Given the description of an element on the screen output the (x, y) to click on. 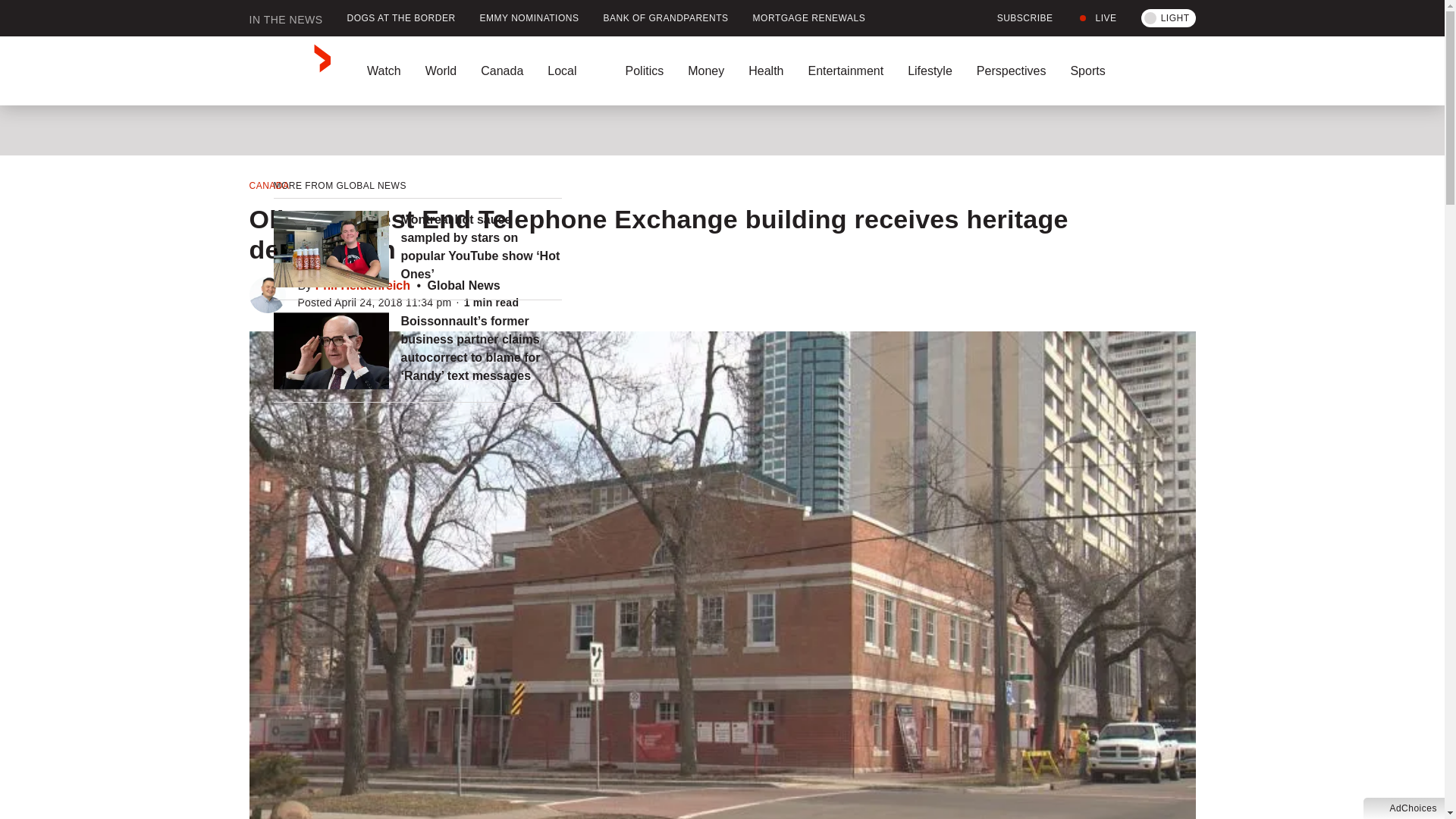
Perspectives (1010, 70)
Watch (384, 70)
DOGS AT THE BORDER (400, 18)
LIVE (1096, 18)
Politics (643, 70)
Lifestyle (929, 70)
Posts by Phil Heidenreich (362, 285)
GlobalNews home (289, 70)
Health (765, 70)
World (440, 70)
Search Menu (1191, 70)
SUBSCRIBE (1015, 18)
MORTGAGE RENEWALS (809, 18)
Local (573, 70)
